Given the description of an element on the screen output the (x, y) to click on. 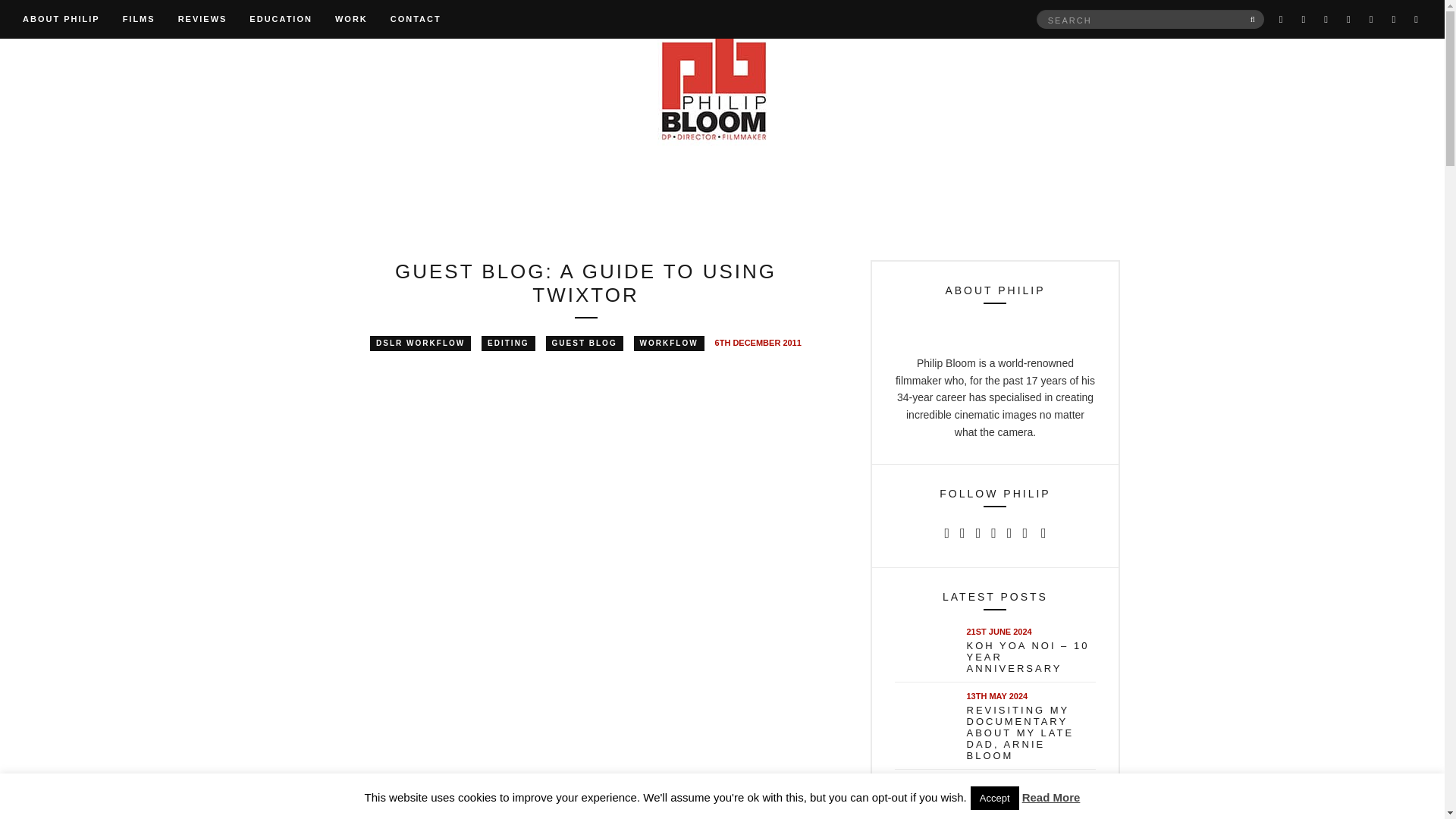
EDITING (508, 343)
ABOUT PHILIP (61, 19)
EDUCATION (280, 19)
FILMS (138, 19)
REVIEWS (202, 19)
CONTACT (415, 19)
GUEST BLOG (584, 343)
WORK (351, 19)
WORKFLOW (668, 343)
Search (1253, 18)
